Given the description of an element on the screen output the (x, y) to click on. 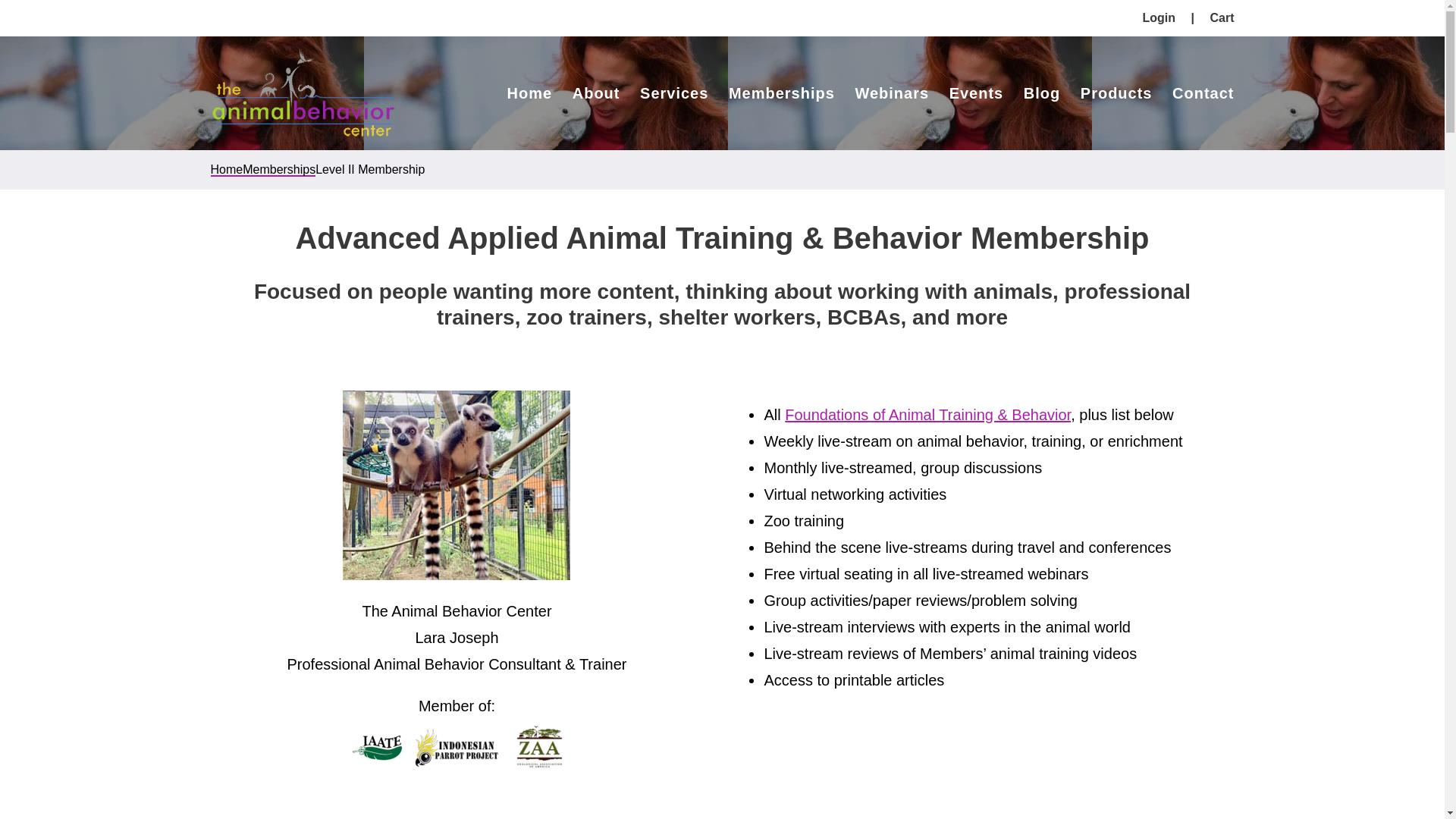
Login (1159, 17)
Home (529, 93)
Services (673, 93)
About (596, 93)
The Animal Behavior Center (303, 93)
Cart (1221, 17)
The Animal Behavior Center (303, 93)
